Given the description of an element on the screen output the (x, y) to click on. 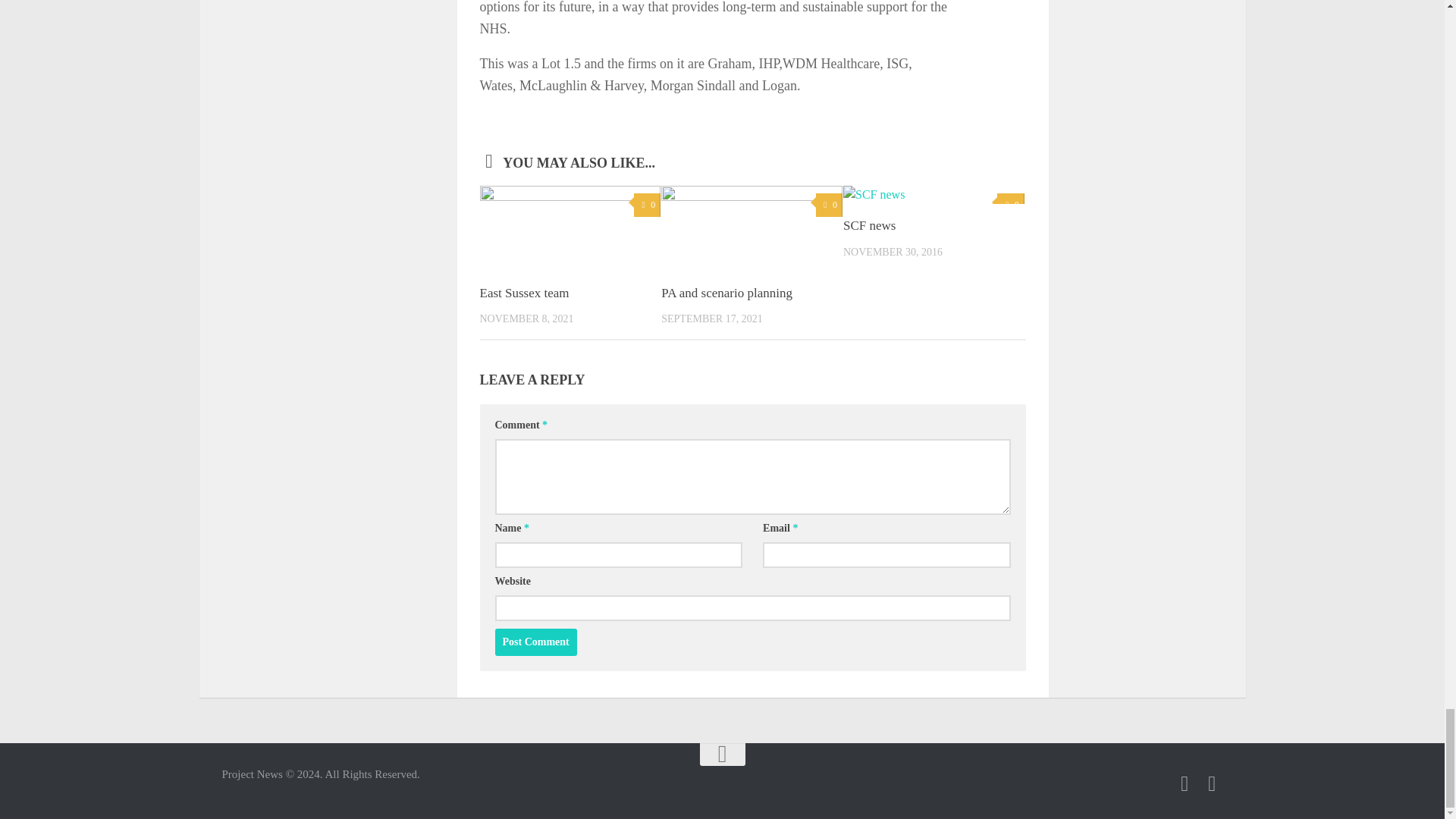
0 (1010, 205)
Post Comment (535, 642)
PA and scenario planning (726, 292)
0 (829, 205)
East Sussex team (524, 292)
SCF news (869, 225)
0 (647, 205)
